Given the description of an element on the screen output the (x, y) to click on. 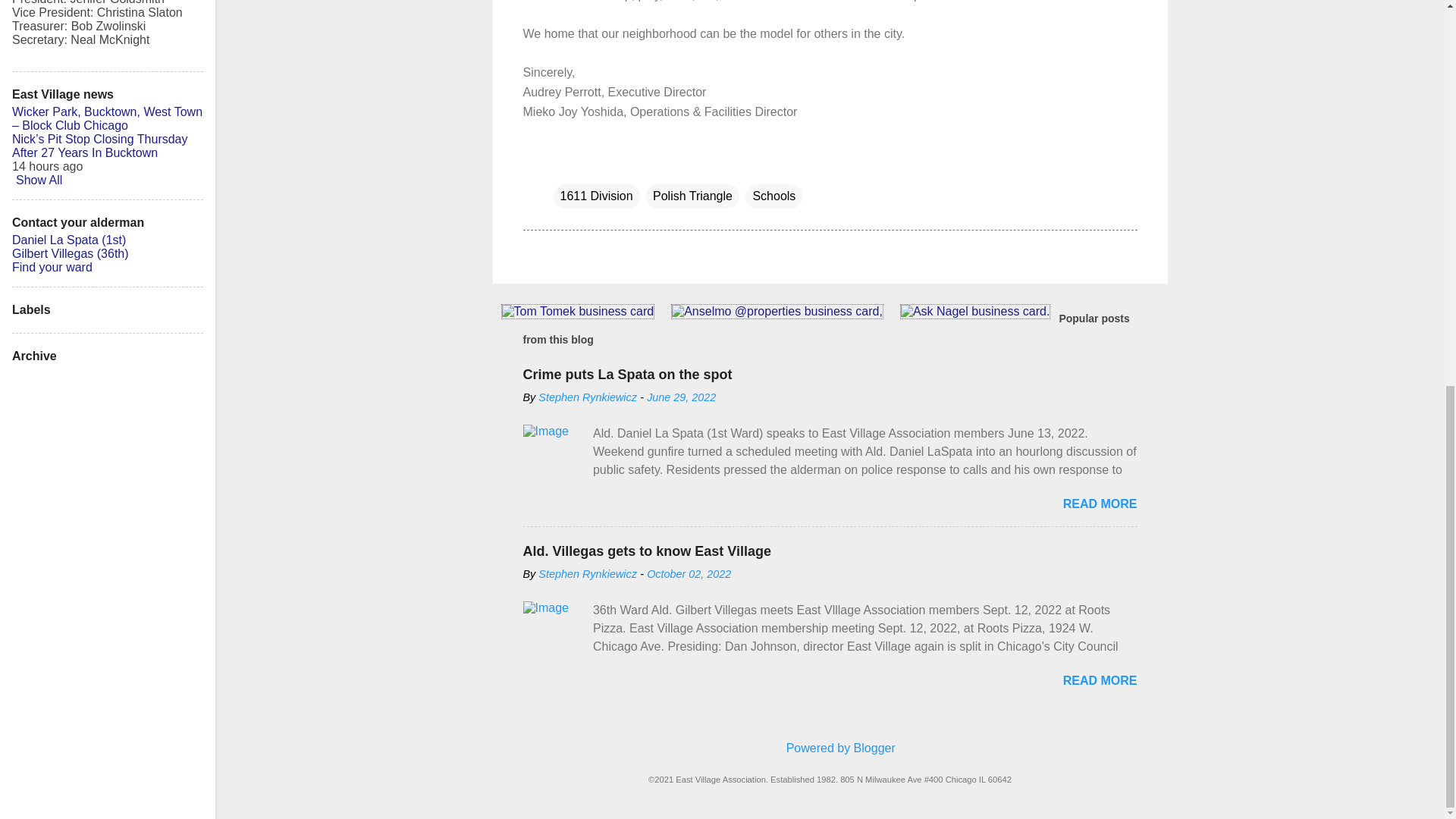
READ MORE (1099, 503)
Schools (773, 196)
Stephen Rynkiewicz (587, 573)
1611 Division (596, 196)
Powered by Blogger (829, 748)
Polish Triangle (692, 196)
READ MORE (1099, 680)
October 02, 2022 (688, 573)
Crime puts La Spata on the spot (627, 374)
Email Post (562, 164)
Stephen Rynkiewicz (587, 397)
June 29, 2022 (681, 397)
Ald. Villegas gets to know East Village (646, 550)
